Given the description of an element on the screen output the (x, y) to click on. 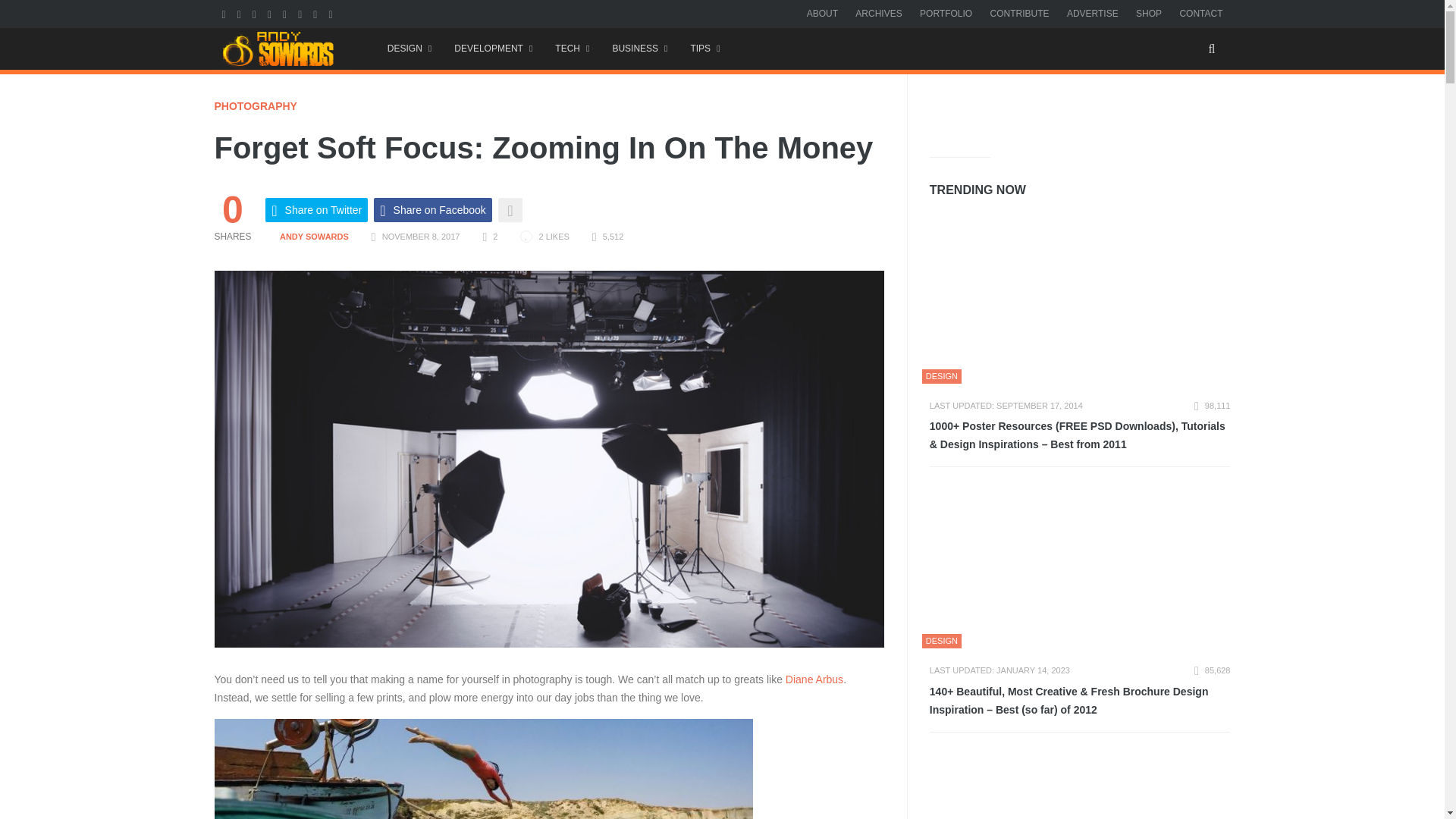
PORTFOLIO (946, 13)
Design (408, 48)
SHOP (1148, 13)
CONTACT (1201, 13)
ADVERTISE (1092, 13)
ARCHIVES (878, 13)
ABOUT (822, 13)
DEVELOPMENT (493, 48)
BUSINESS (638, 48)
CONTRIBUTE (1019, 13)
